Given the description of an element on the screen output the (x, y) to click on. 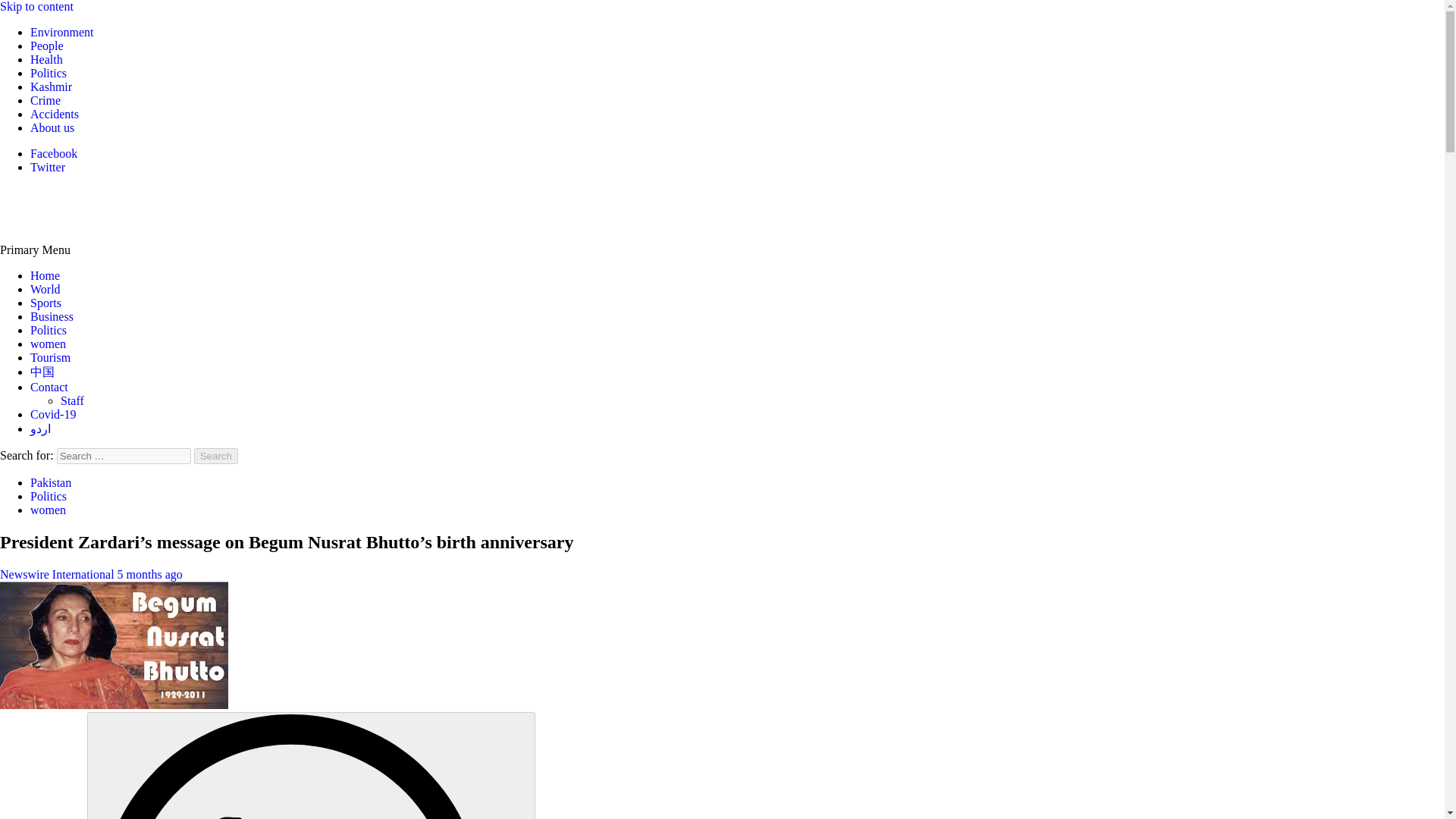
Politics (48, 495)
Search (215, 455)
Crime (45, 100)
women (47, 509)
Environment (62, 31)
Business (52, 316)
Whatsapp (311, 765)
Search (215, 455)
Newswire International (58, 574)
Twitter (47, 166)
